Given the description of an element on the screen output the (x, y) to click on. 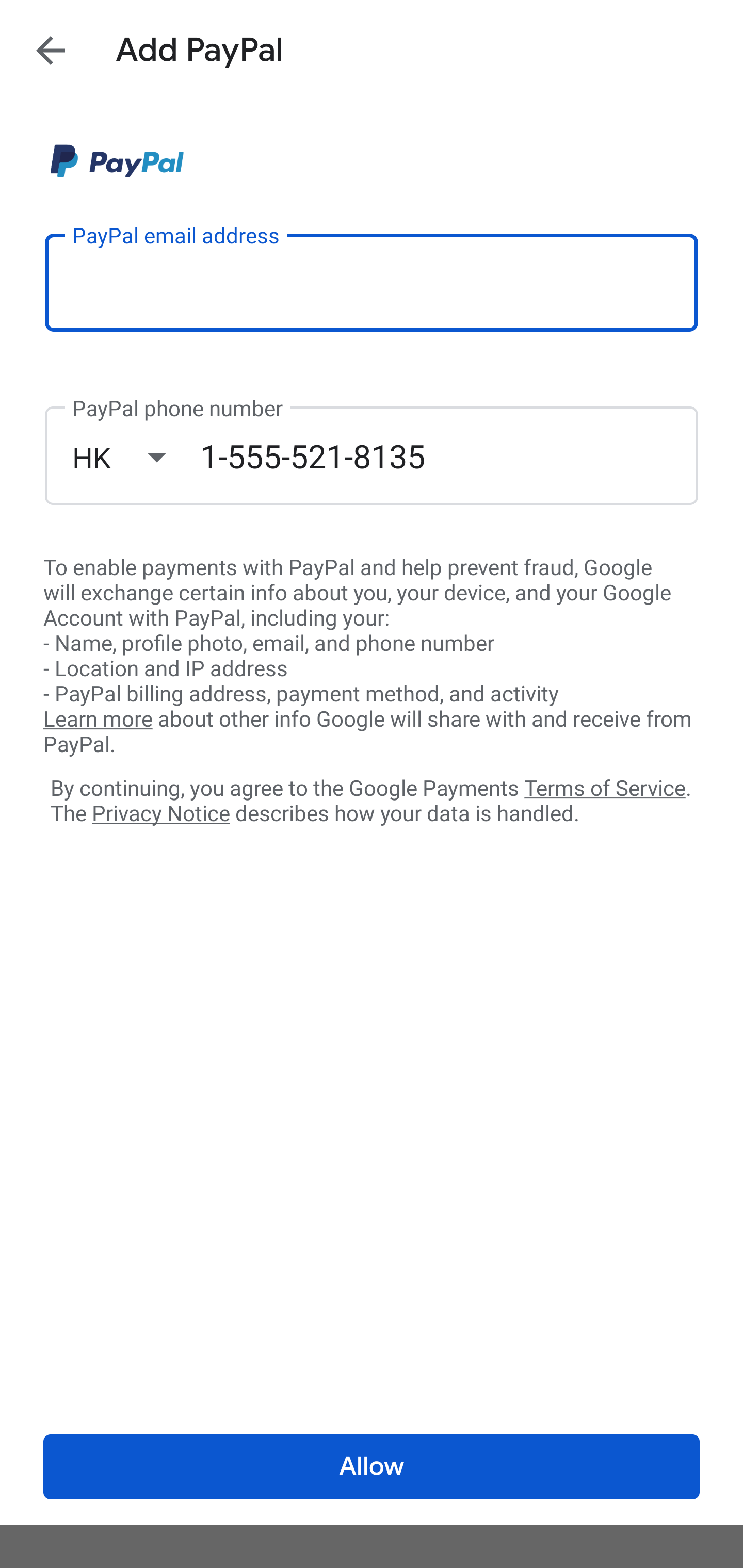
Navigate up (50, 50)
PayPal email address (371, 282)
HK (135, 456)
Learn more (97, 719)
Terms of Service (604, 787)
Privacy Notice (160, 814)
Allow (371, 1466)
